Given the description of an element on the screen output the (x, y) to click on. 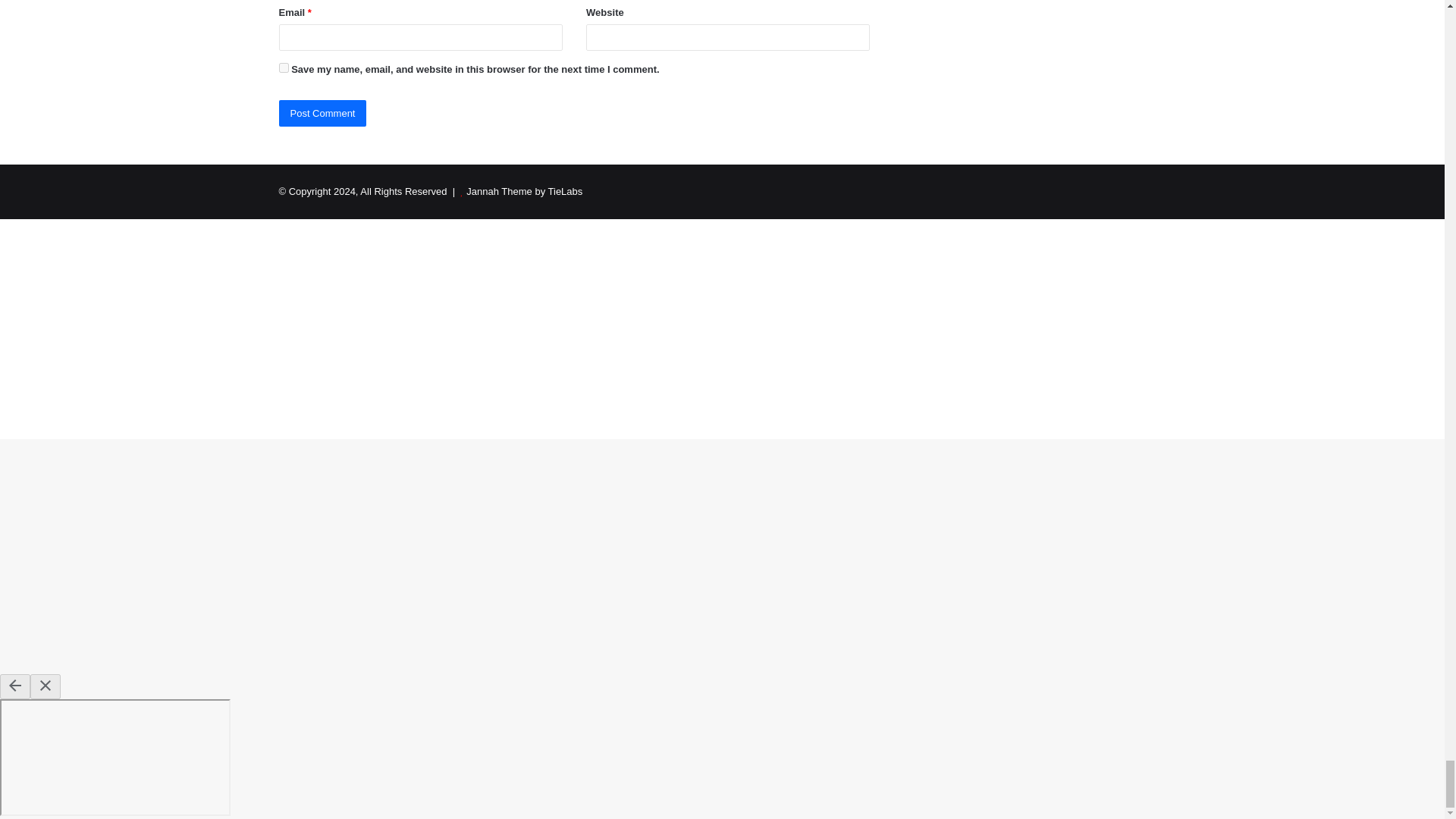
Post Comment (322, 112)
yes (283, 67)
